Given the description of an element on the screen output the (x, y) to click on. 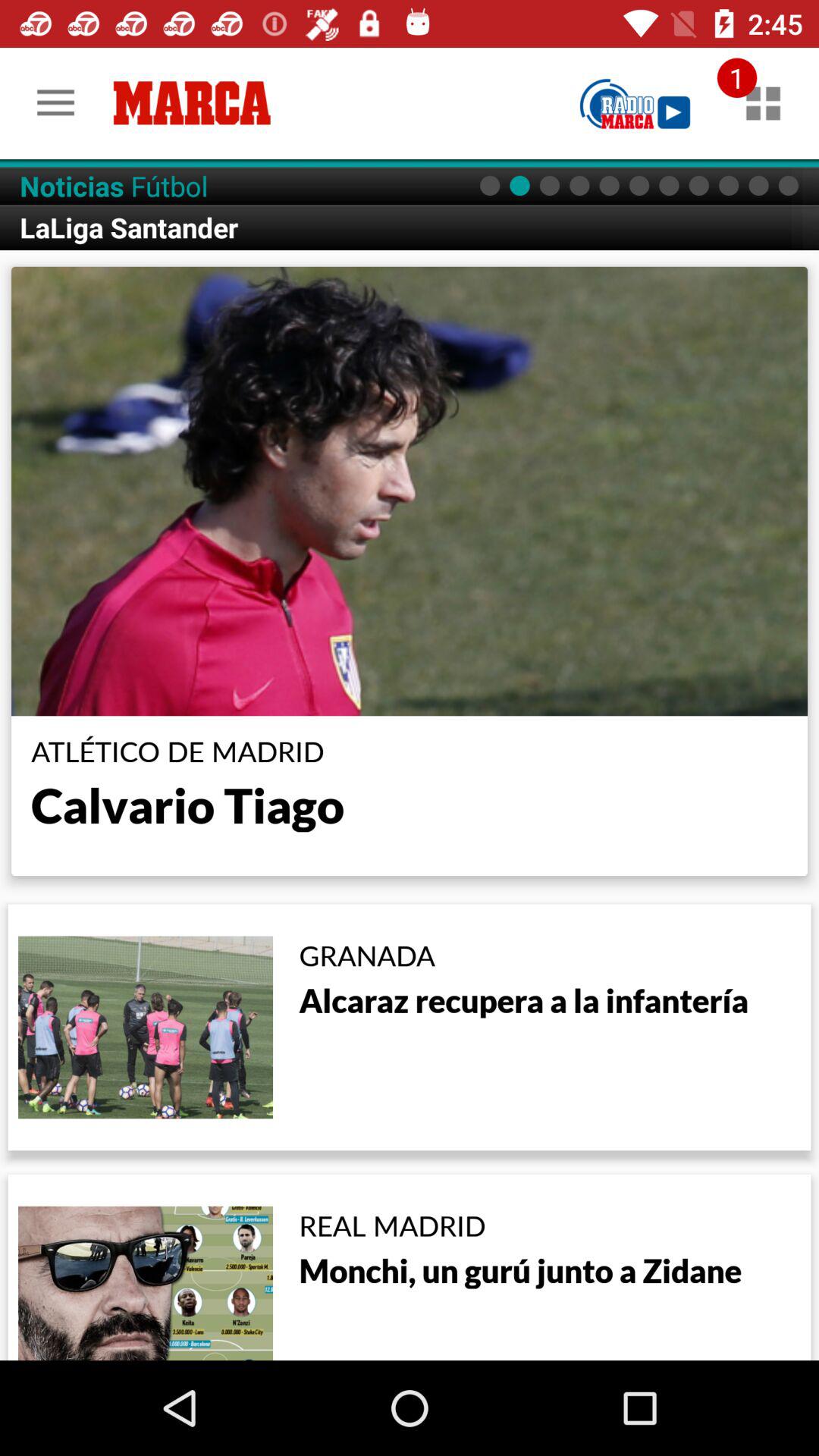
play radio marca (635, 103)
